Given the description of an element on the screen output the (x, y) to click on. 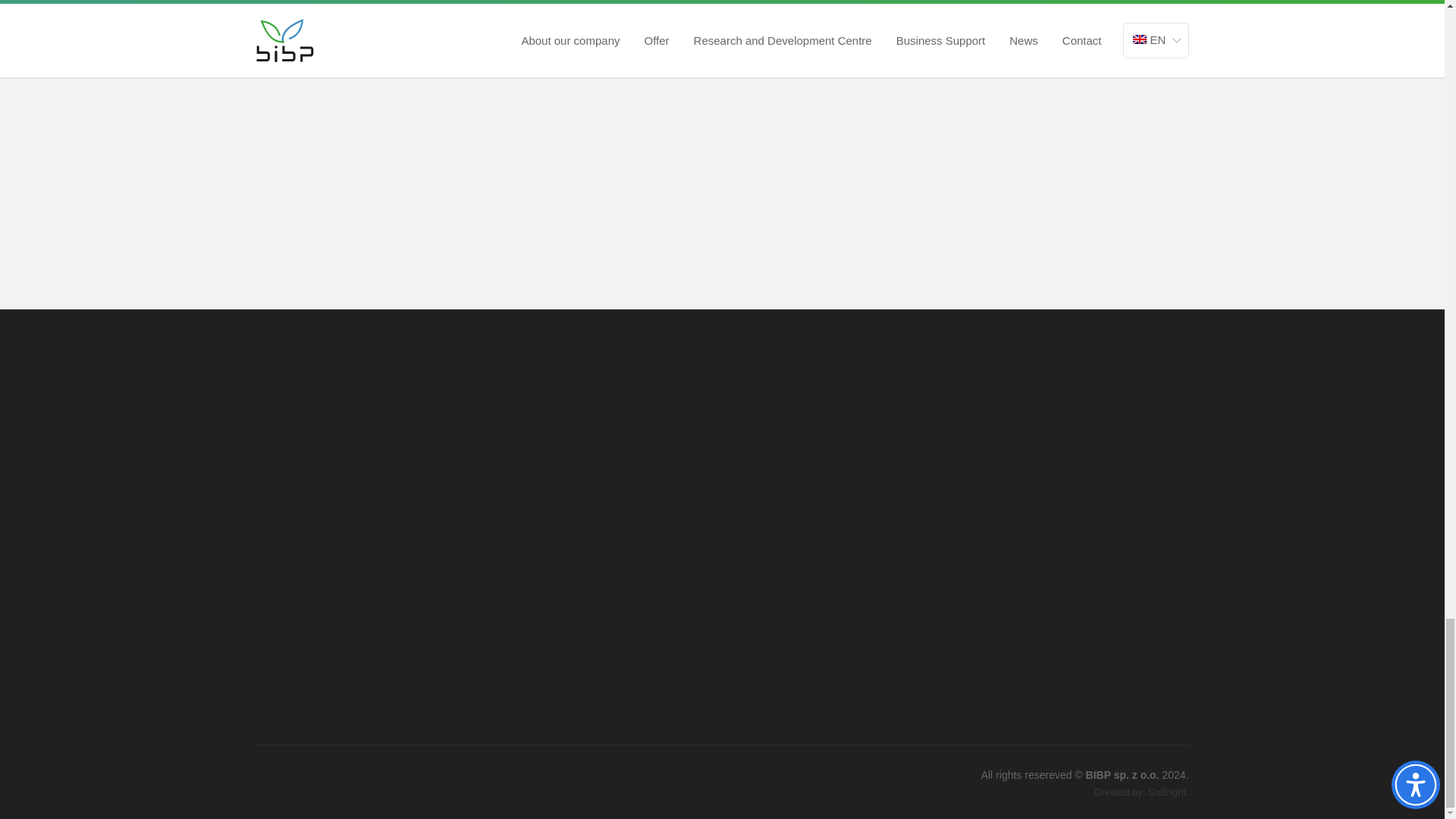
SoBright (1167, 791)
